Given the description of an element on the screen output the (x, y) to click on. 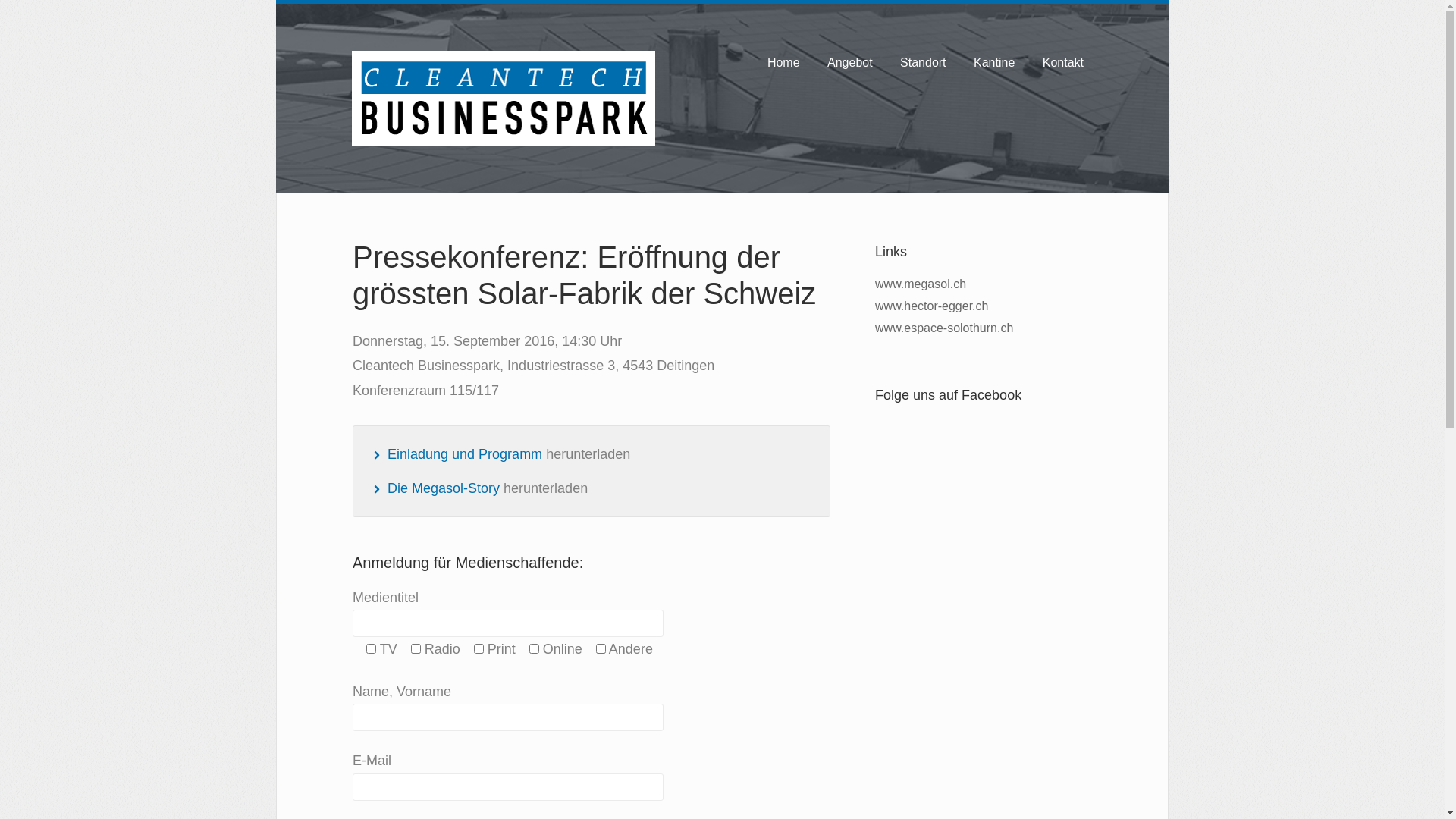
www.hector-egger.ch Element type: text (931, 305)
Standort Element type: text (922, 63)
Kontakt Element type: text (1062, 63)
Kantine Element type: text (993, 63)
Home Element type: text (783, 63)
Einladung und Programm Element type: text (464, 453)
Angebot Element type: text (849, 63)
Die Megasol-Story Element type: text (443, 487)
www.megasol.ch Element type: text (920, 283)
www.espace-solothurn.ch Element type: text (944, 327)
